Given the description of an element on the screen output the (x, y) to click on. 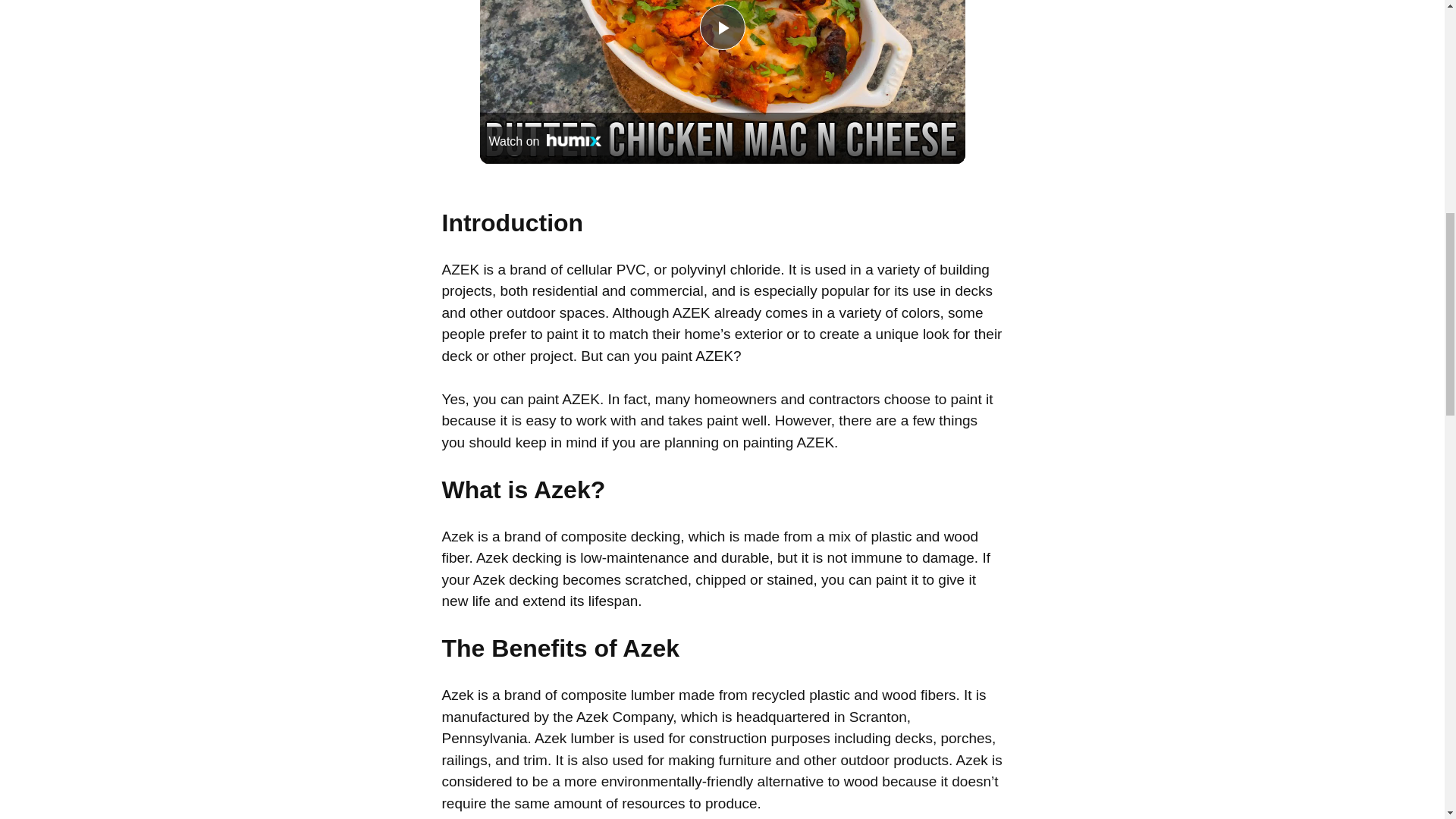
Play Video (721, 26)
Play Video (721, 26)
